Given the description of an element on the screen output the (x, y) to click on. 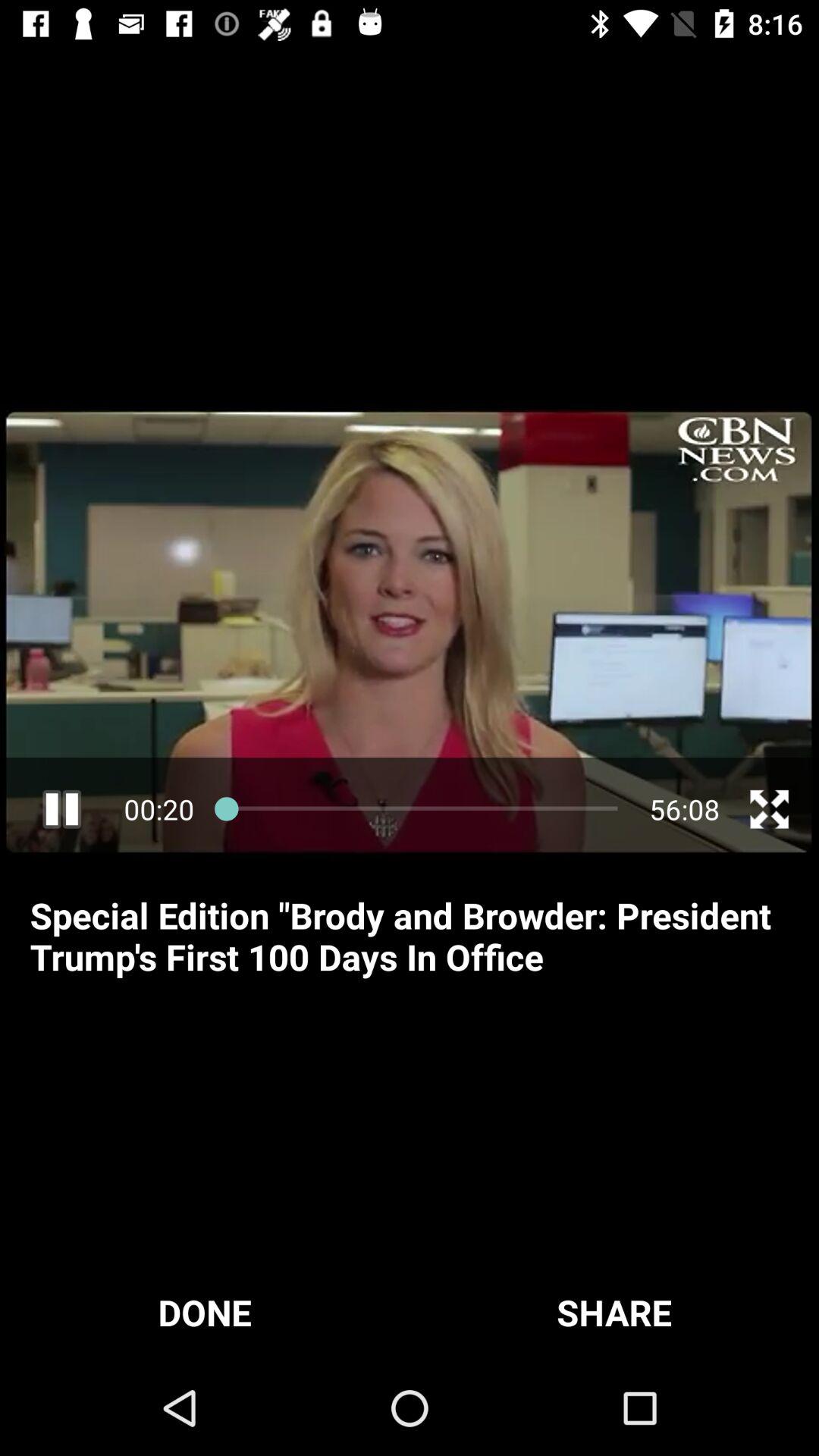
toggle fullscreen (769, 809)
